Given the description of an element on the screen output the (x, y) to click on. 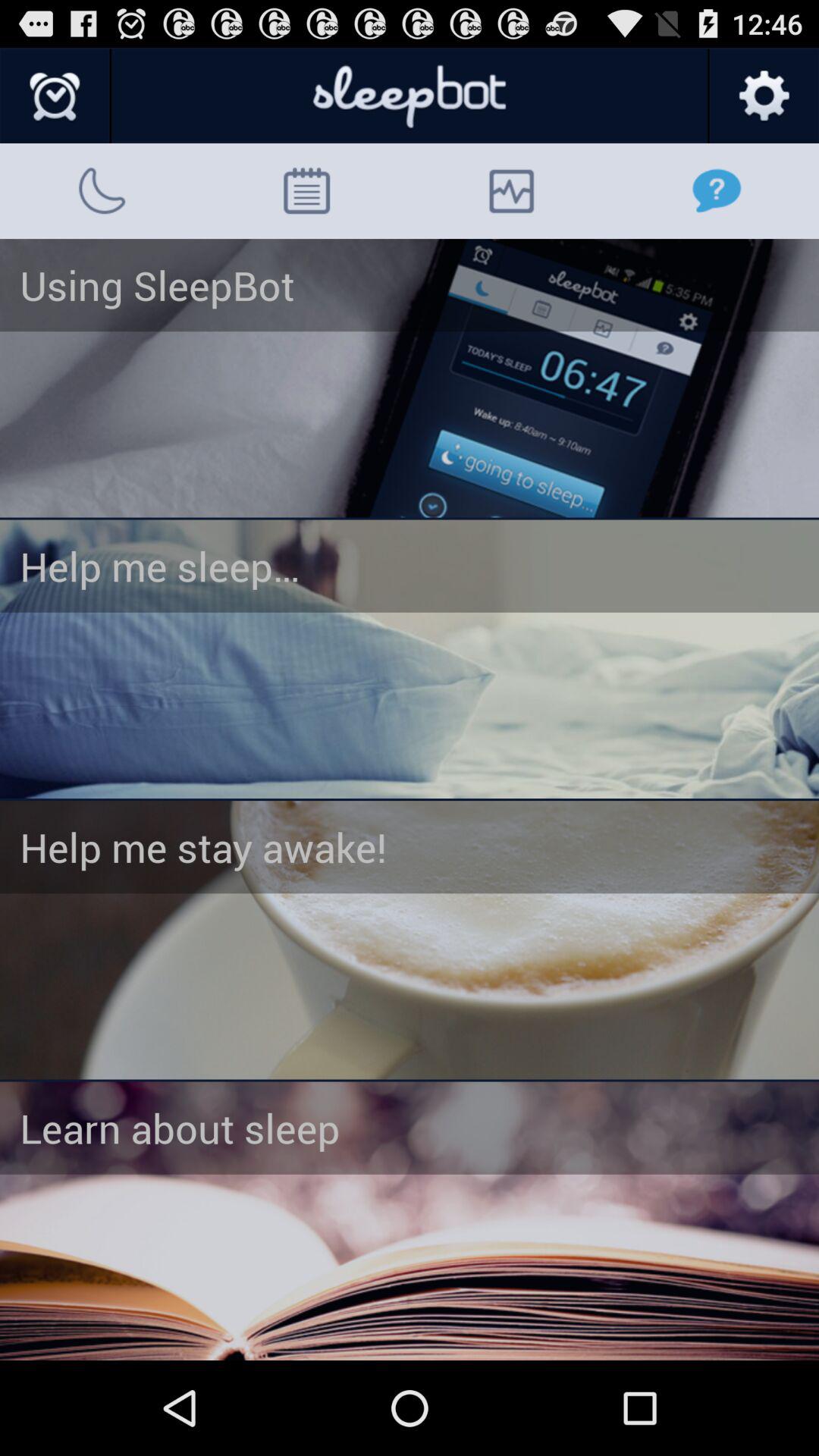
learn about sleep (409, 1220)
